Given the description of an element on the screen output the (x, y) to click on. 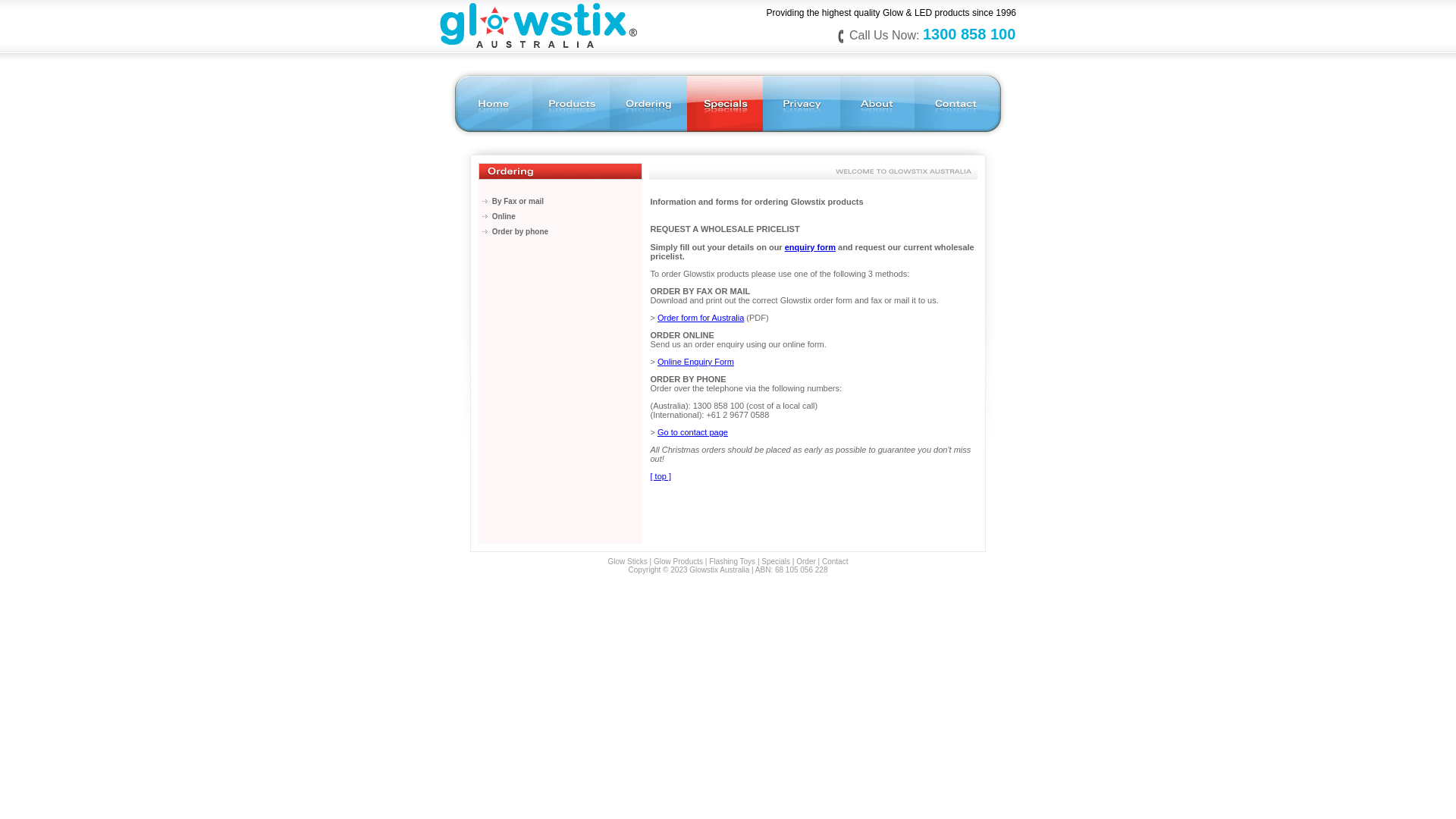
Order Element type: text (805, 560)
Specials Element type: text (775, 560)
Glow Sticks Element type: text (627, 560)
Online Enquiry Form Element type: text (695, 361)
Online Element type: text (503, 216)
enquiry form Element type: text (809, 246)
[ top ] Element type: text (660, 475)
By Fax or mail Element type: text (517, 201)
Order by phone Element type: text (520, 231)
Contact Element type: text (834, 560)
Flashing Toys Element type: text (732, 560)
Order form for Australia Element type: text (700, 317)
Go to contact page Element type: text (692, 431)
Glow Products Element type: text (677, 560)
